Given the description of an element on the screen output the (x, y) to click on. 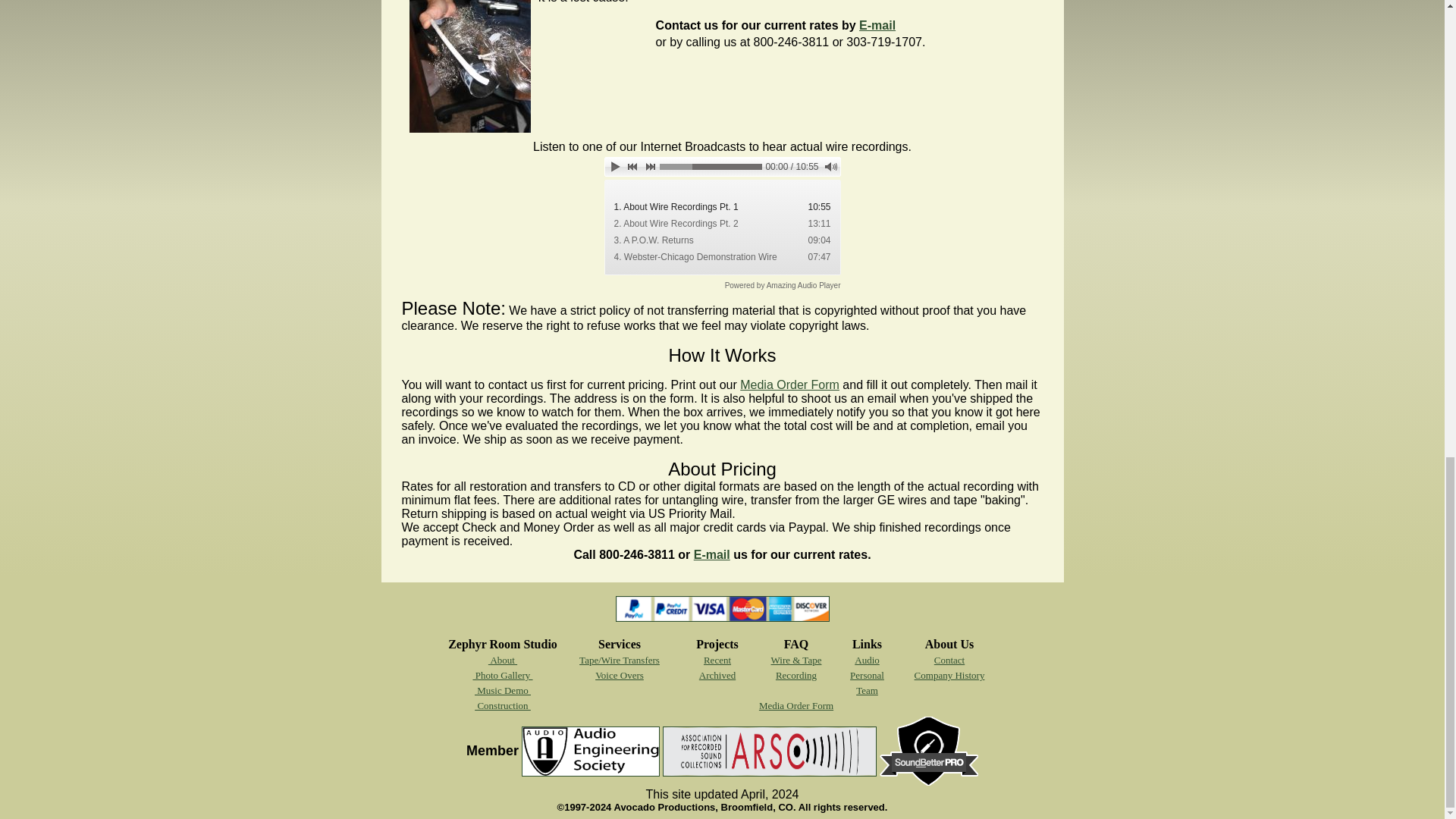
Recent (716, 659)
Powered by Amazing Audio Player (783, 285)
E-mail (712, 554)
Angie Dickinson Mickle profile on SoundBetter (928, 780)
How It Works (722, 355)
 About  (501, 659)
E-mail (877, 24)
Audio (866, 659)
Media Order Form (789, 384)
